Given the description of an element on the screen output the (x, y) to click on. 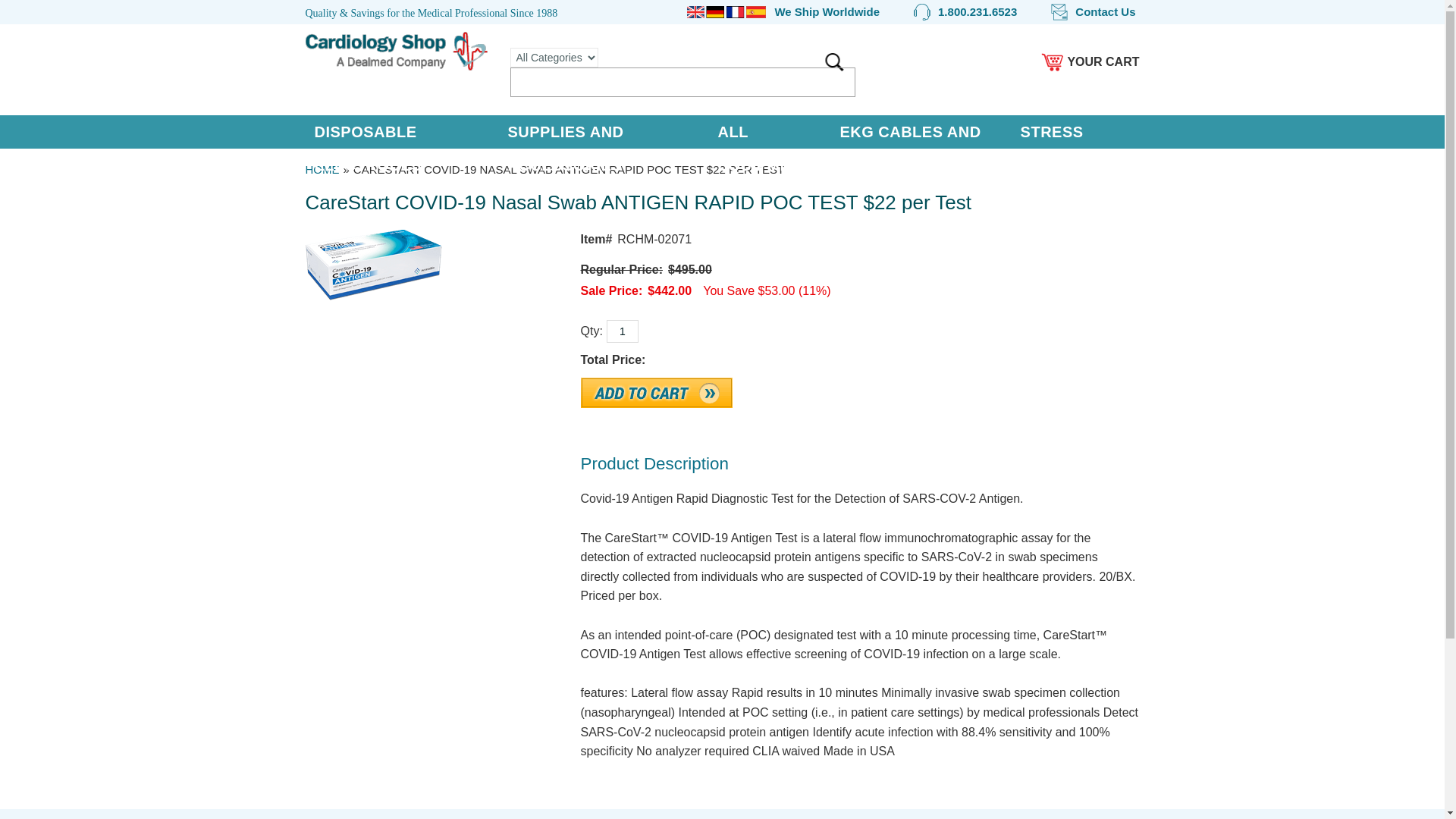
EKG CABLES AND LEADS (919, 148)
SUPPLIES AND ACCESSORIES (602, 148)
Search (834, 61)
We Ship Worldwide (783, 12)
YOUR CART (1089, 61)
Add to cart (656, 392)
ALL EQUIPMENT (770, 148)
DISPOSABLE ELECTRODES (400, 148)
STRESS TESTING (1075, 148)
1.800.231.6523 (965, 12)
Contact Us (1093, 12)
HOME (321, 169)
1 (623, 331)
